Given the description of an element on the screen output the (x, y) to click on. 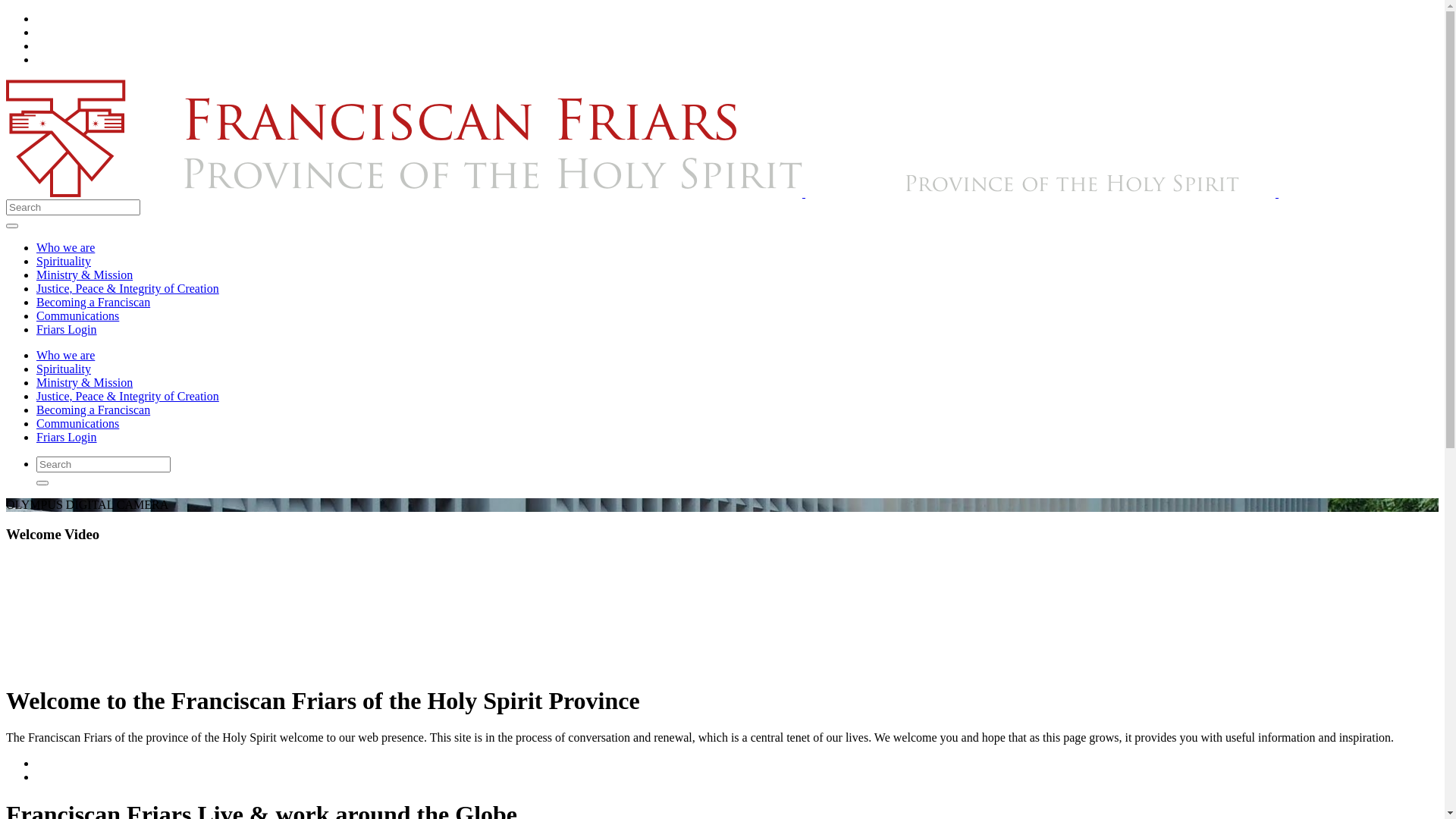
Ministry & Mission Element type: text (84, 274)
Becoming a Franciscan Element type: text (93, 301)
Spirituality Element type: text (63, 260)
Friars Login Element type: text (66, 329)
Communications Element type: text (77, 423)
Ministry & Mission Element type: text (84, 382)
Becoming a Franciscan Element type: text (93, 409)
Friars Login Element type: text (66, 436)
Spirituality Element type: text (63, 368)
Communications Element type: text (77, 315)
Justice, Peace & Integrity of Creation Element type: text (127, 395)
Who we are Element type: text (65, 247)
Who we are Element type: text (65, 354)
Justice, Peace & Integrity of Creation Element type: text (127, 288)
